Given the description of an element on the screen output the (x, y) to click on. 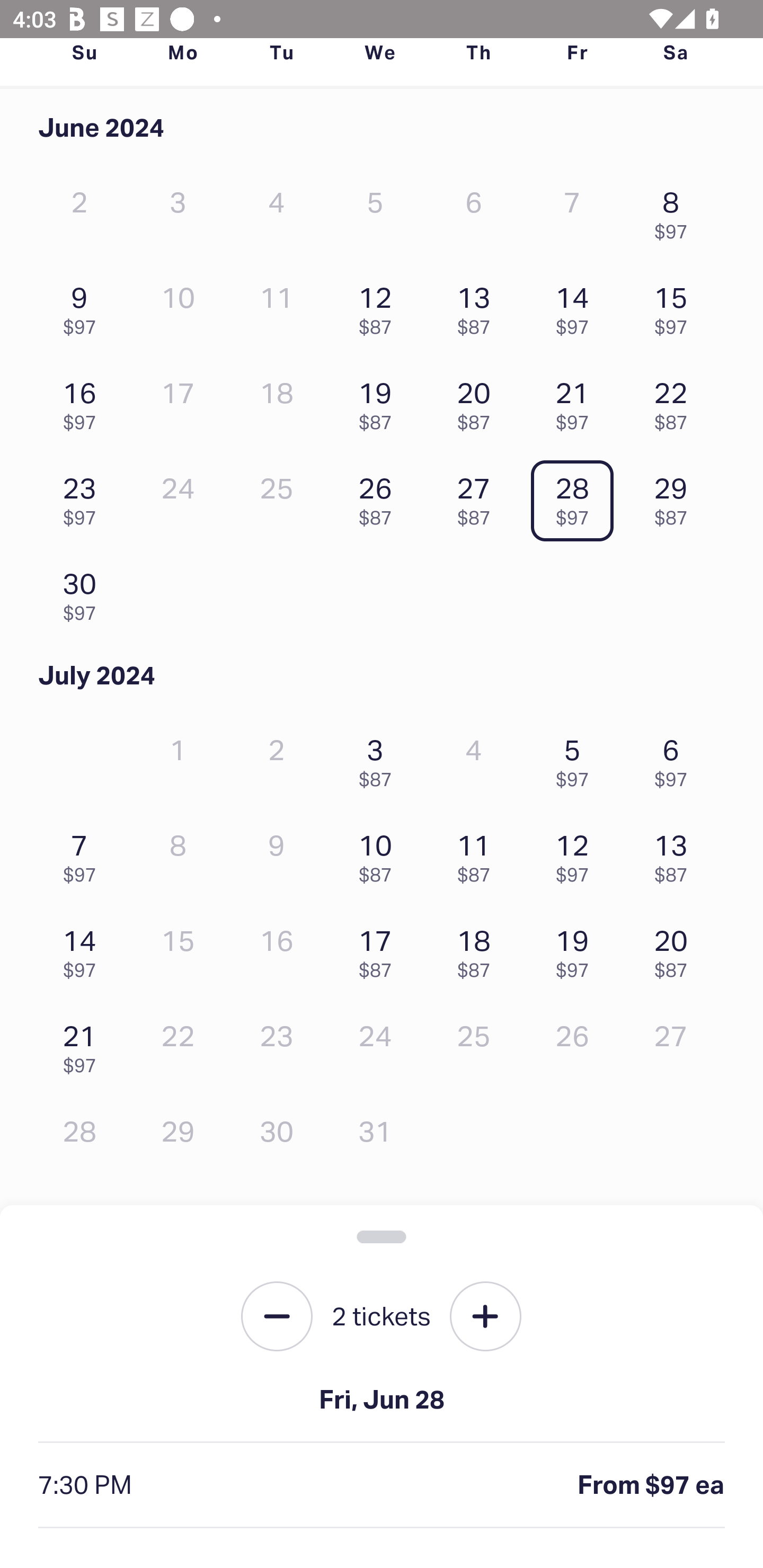
8 $97 (675, 210)
9 $97 (84, 306)
12 $87 (379, 306)
13 $87 (478, 306)
14 $97 (577, 306)
15 $97 (675, 306)
16 $97 (84, 401)
19 $87 (379, 401)
20 $87 (478, 401)
21 $97 (577, 401)
22 $87 (675, 401)
23 $97 (84, 496)
26 $87 (379, 496)
27 $87 (478, 496)
28 $97 (577, 496)
29 $87 (675, 496)
30 $97 (84, 591)
3 $87 (379, 757)
5 $97 (577, 757)
6 $97 (675, 757)
7 $97 (84, 853)
10 $87 (379, 853)
11 $87 (478, 853)
12 $97 (577, 853)
13 $87 (675, 853)
14 $97 (84, 949)
17 $87 (379, 949)
18 $87 (478, 949)
19 $97 (577, 949)
20 $87 (675, 949)
21 $97 (84, 1044)
7:30 PM From $97 ea (381, 1485)
